Given the description of an element on the screen output the (x, y) to click on. 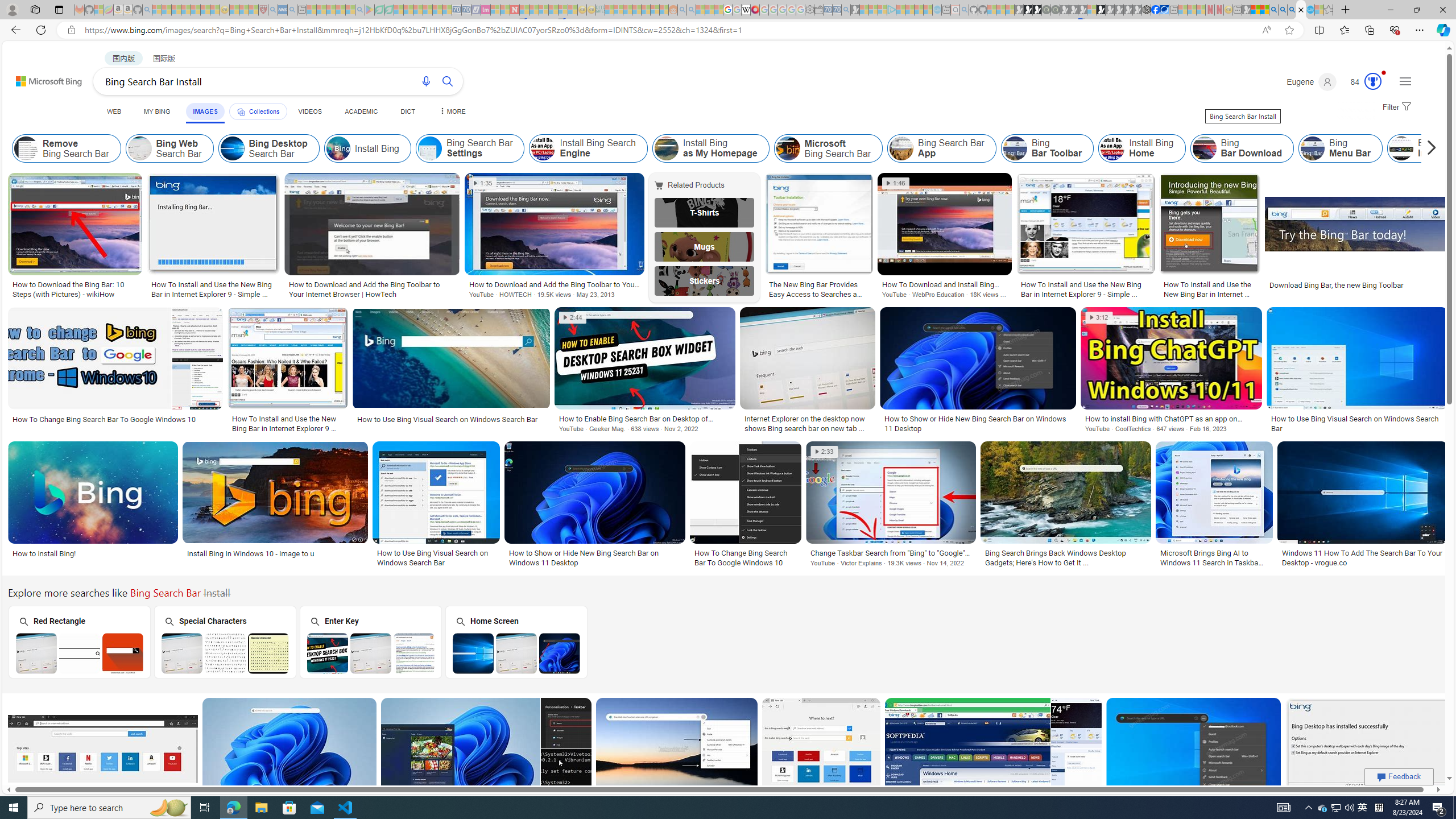
How to install Bing!Save (94, 505)
Settings - Sleeping (809, 9)
Microsoft Rewards 84 (1362, 81)
Bing Web Search Bar (139, 148)
DITOGAMES AG Imprint - Sleeping (600, 9)
